Given the description of an element on the screen output the (x, y) to click on. 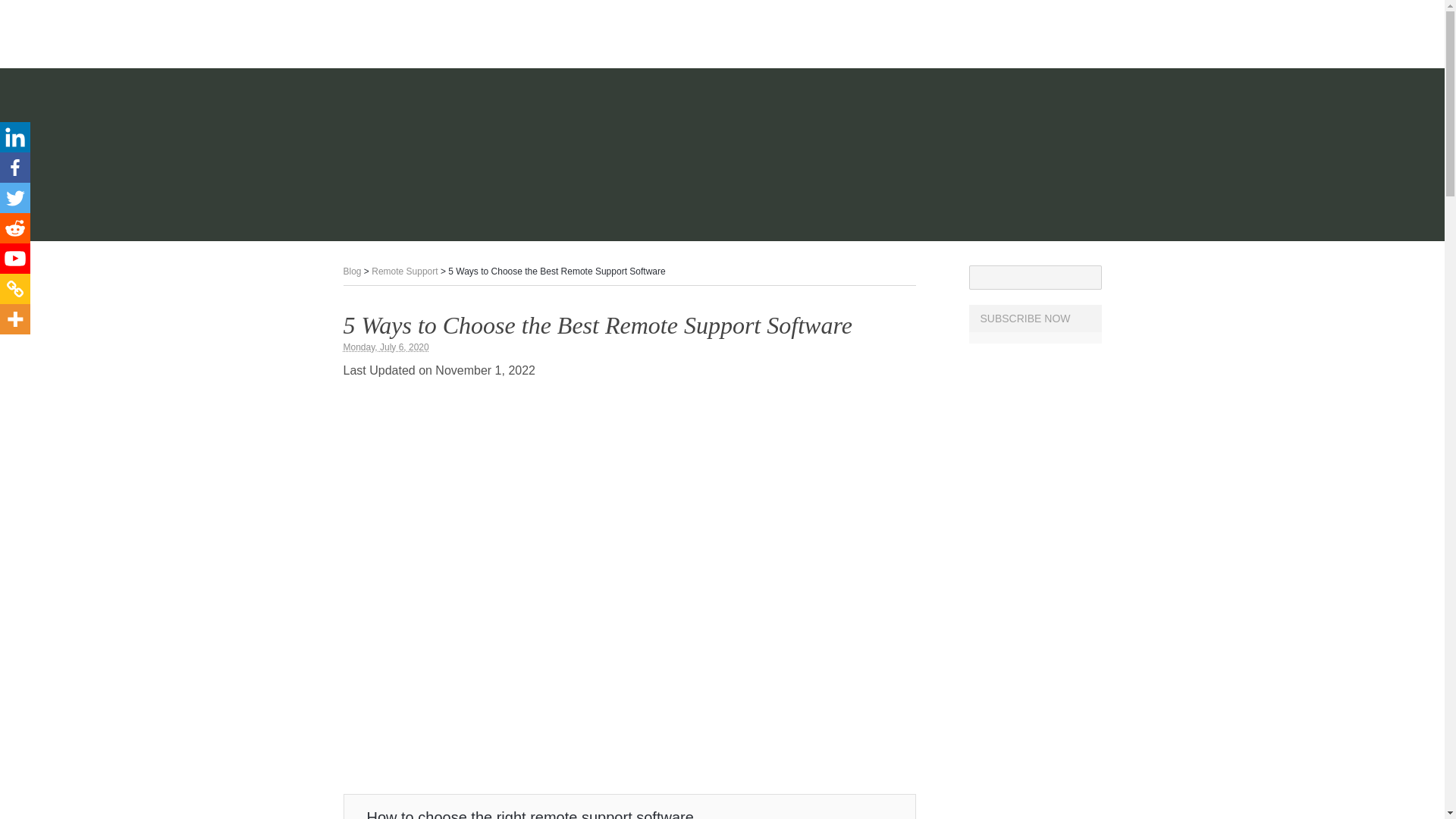
Twitter (15, 197)
Search (1088, 277)
Facebook (15, 167)
More (15, 318)
Remote Support (404, 271)
Copy Link (15, 288)
Search (1088, 277)
Youtube (15, 258)
Blog (351, 271)
